Given the description of an element on the screen output the (x, y) to click on. 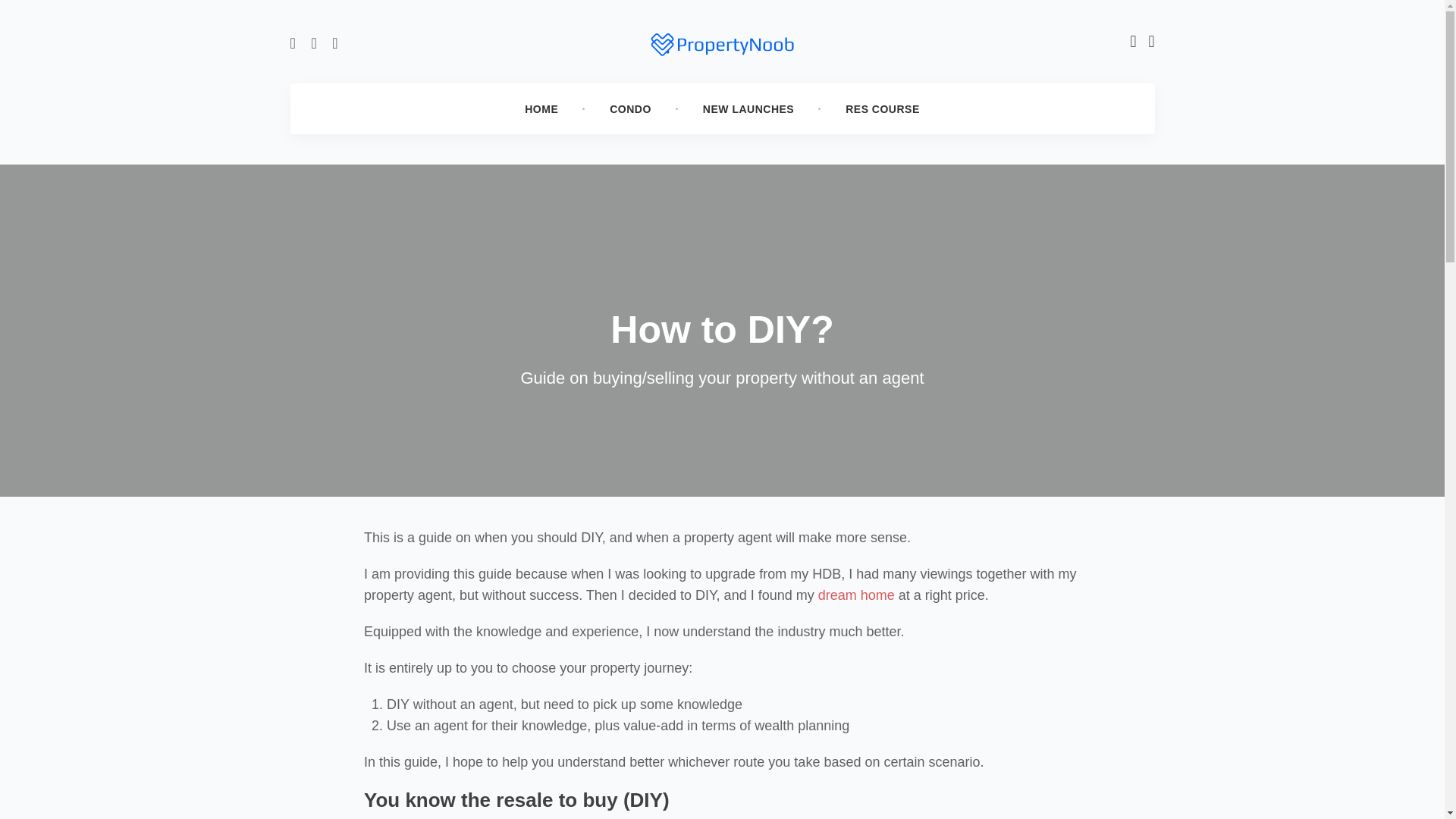
NEW LAUNCHES (748, 108)
CONDO (630, 108)
HOME (541, 108)
